Given the description of an element on the screen output the (x, y) to click on. 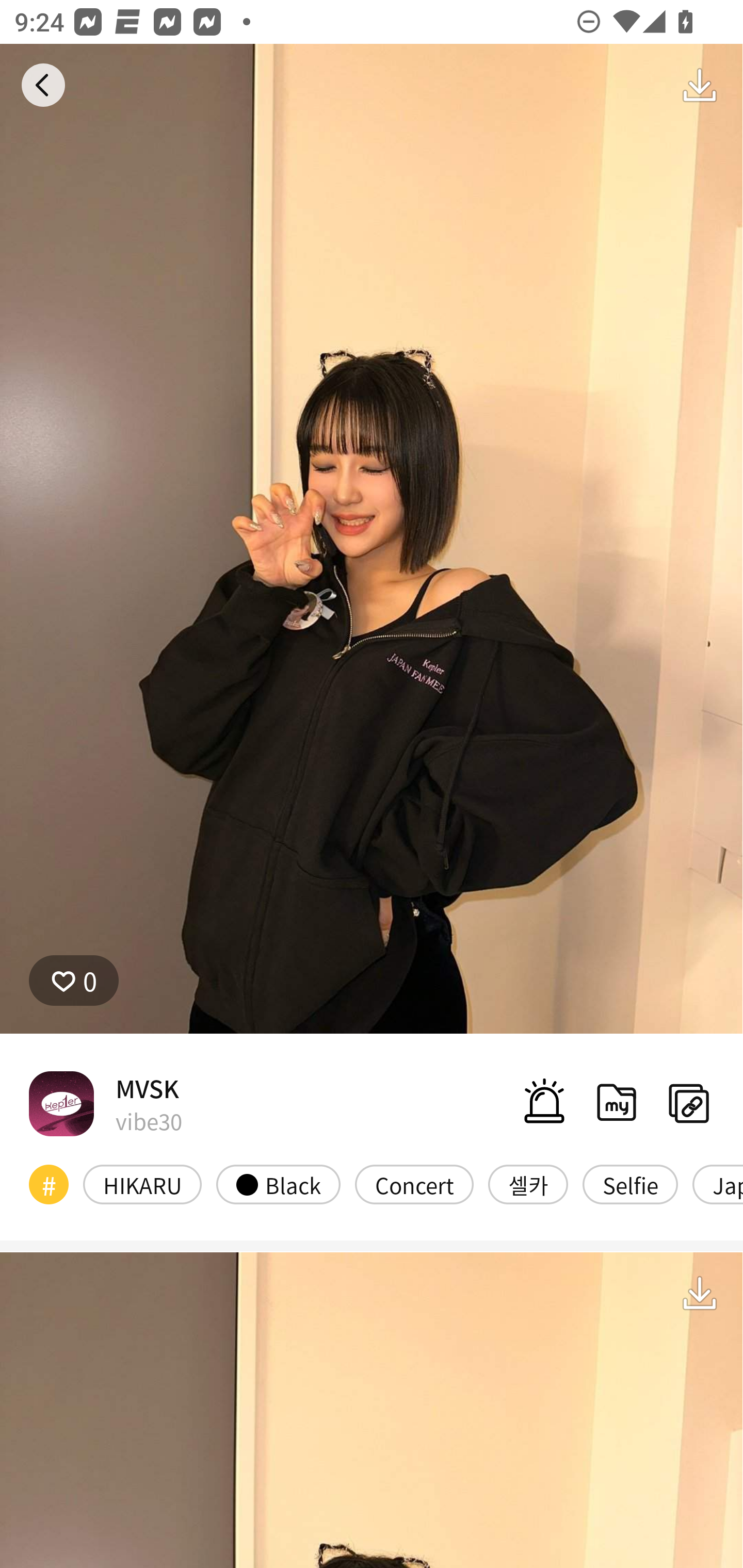
0 (73, 980)
MVSK vibe30 (105, 1102)
HIKARU (142, 1184)
Black (278, 1184)
Concert (414, 1184)
셀카 (528, 1184)
Selfie (629, 1184)
